Given the description of an element on the screen output the (x, y) to click on. 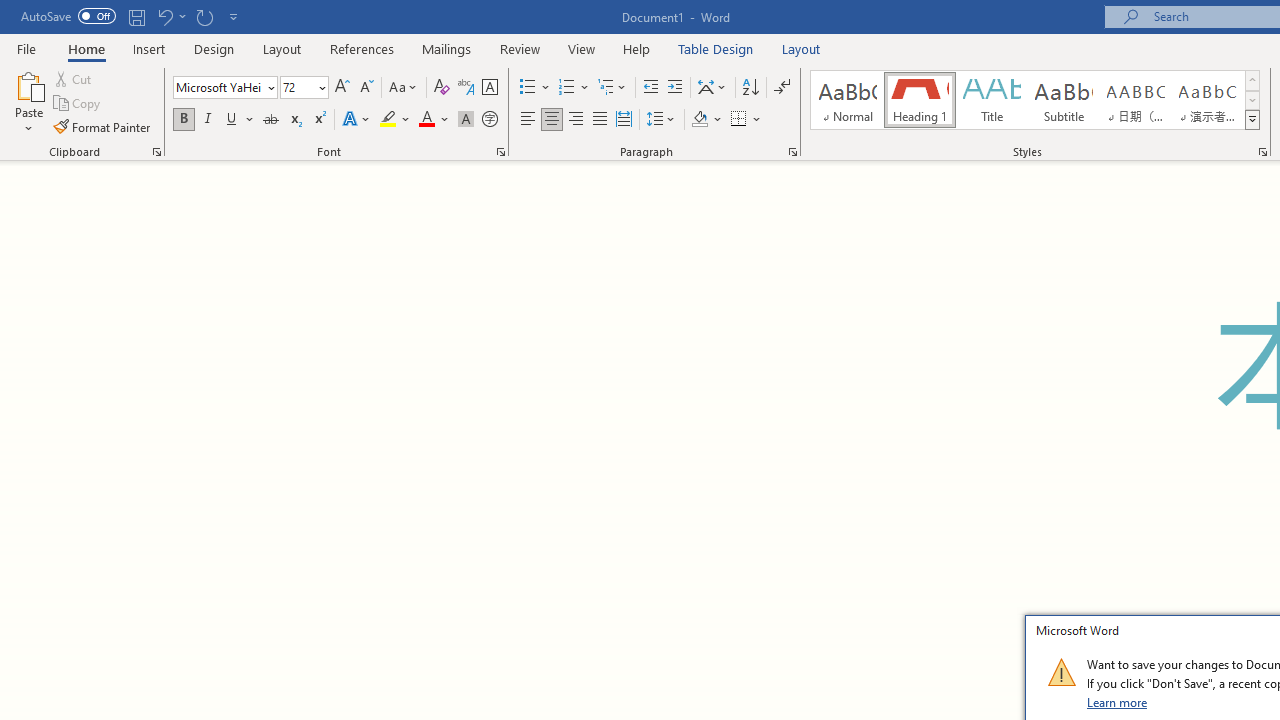
Undo Grow Font (170, 15)
